Given the description of an element on the screen output the (x, y) to click on. 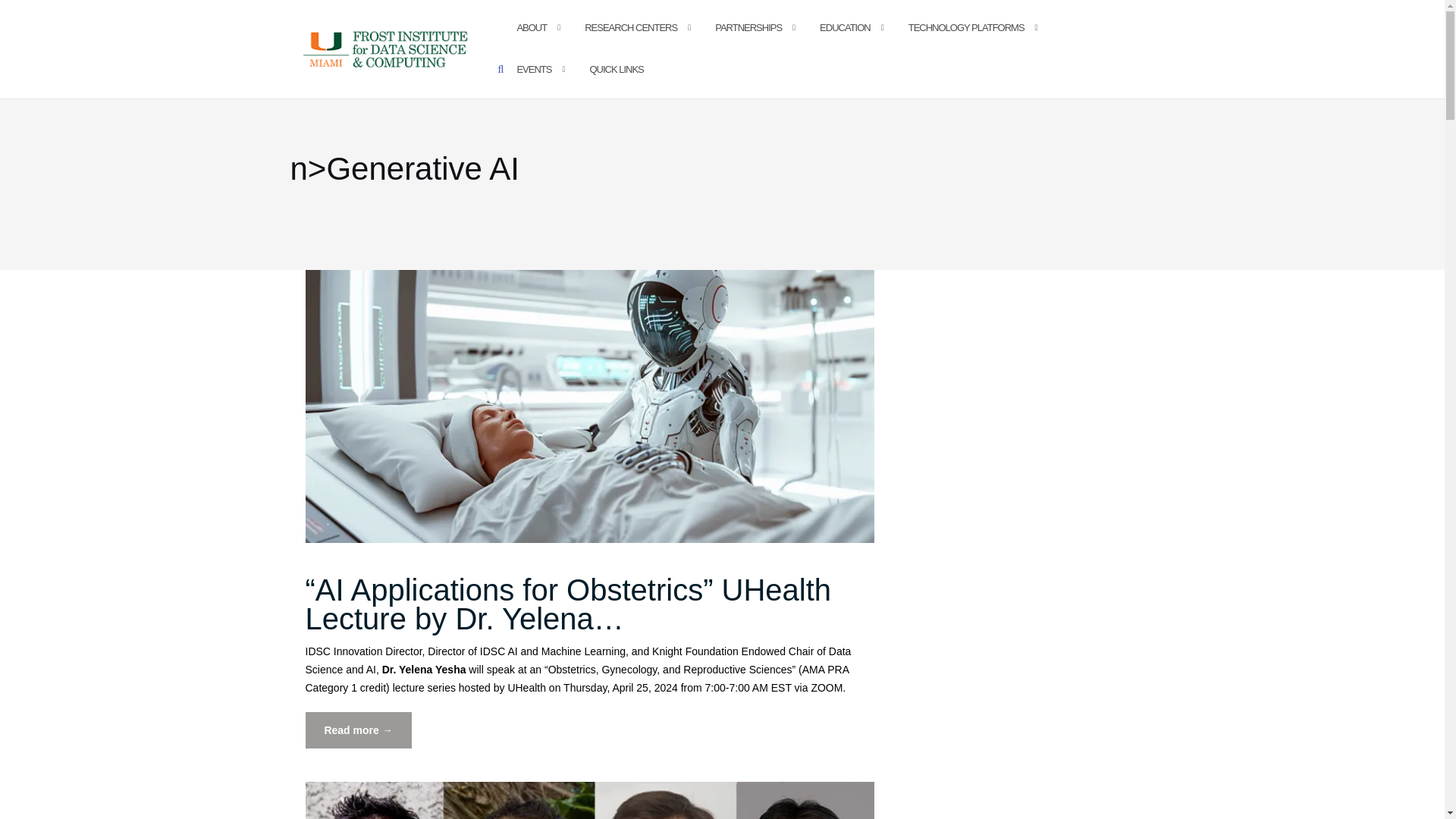
RESEARCH CENTERS (631, 28)
